Given the description of an element on the screen output the (x, y) to click on. 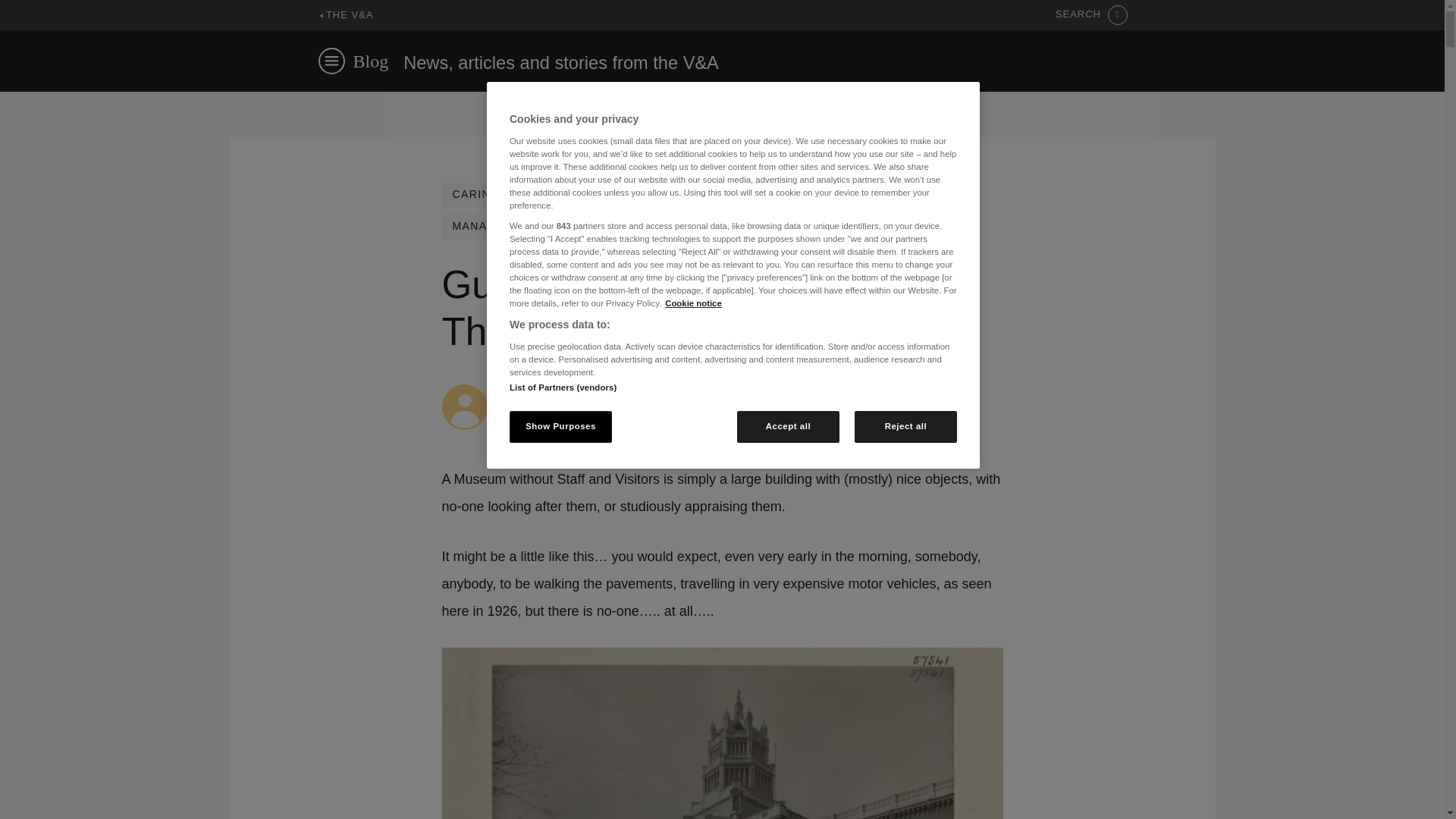
Posts by Steve Woodhouse (546, 391)
Blog (370, 60)
MANAGING OUR COLLECTIONS (545, 226)
Steve Woodhouse (546, 391)
SEARCH (1090, 15)
CONSERVATION (730, 194)
CARING FOR OUR COLLECTIONS (551, 194)
